Given the description of an element on the screen output the (x, y) to click on. 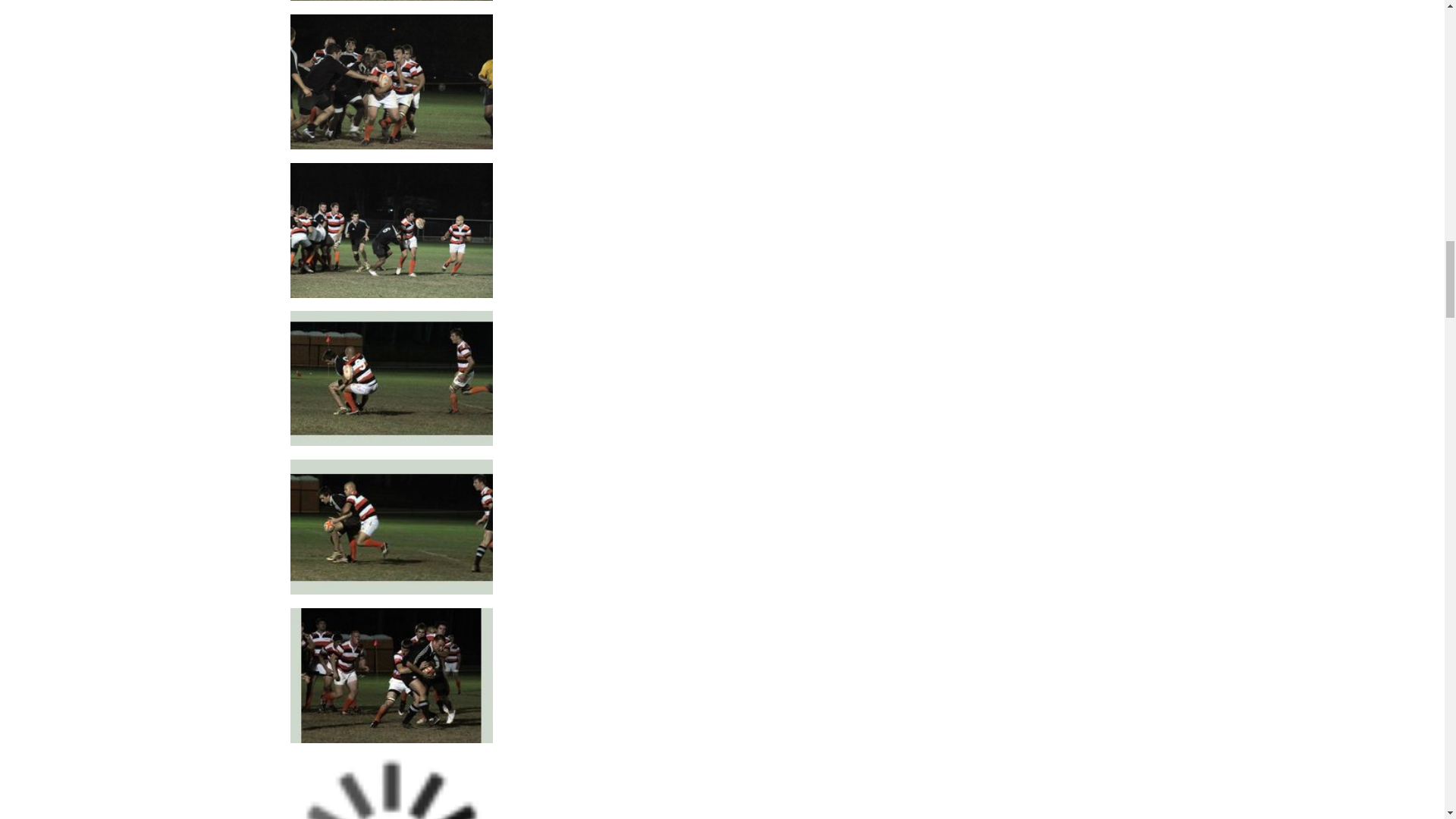
Image 1 (391, 377)
Image 1 (391, 525)
Image 1 (391, 80)
Image 1 (391, 674)
Image 1 (391, 228)
